Given the description of an element on the screen output the (x, y) to click on. 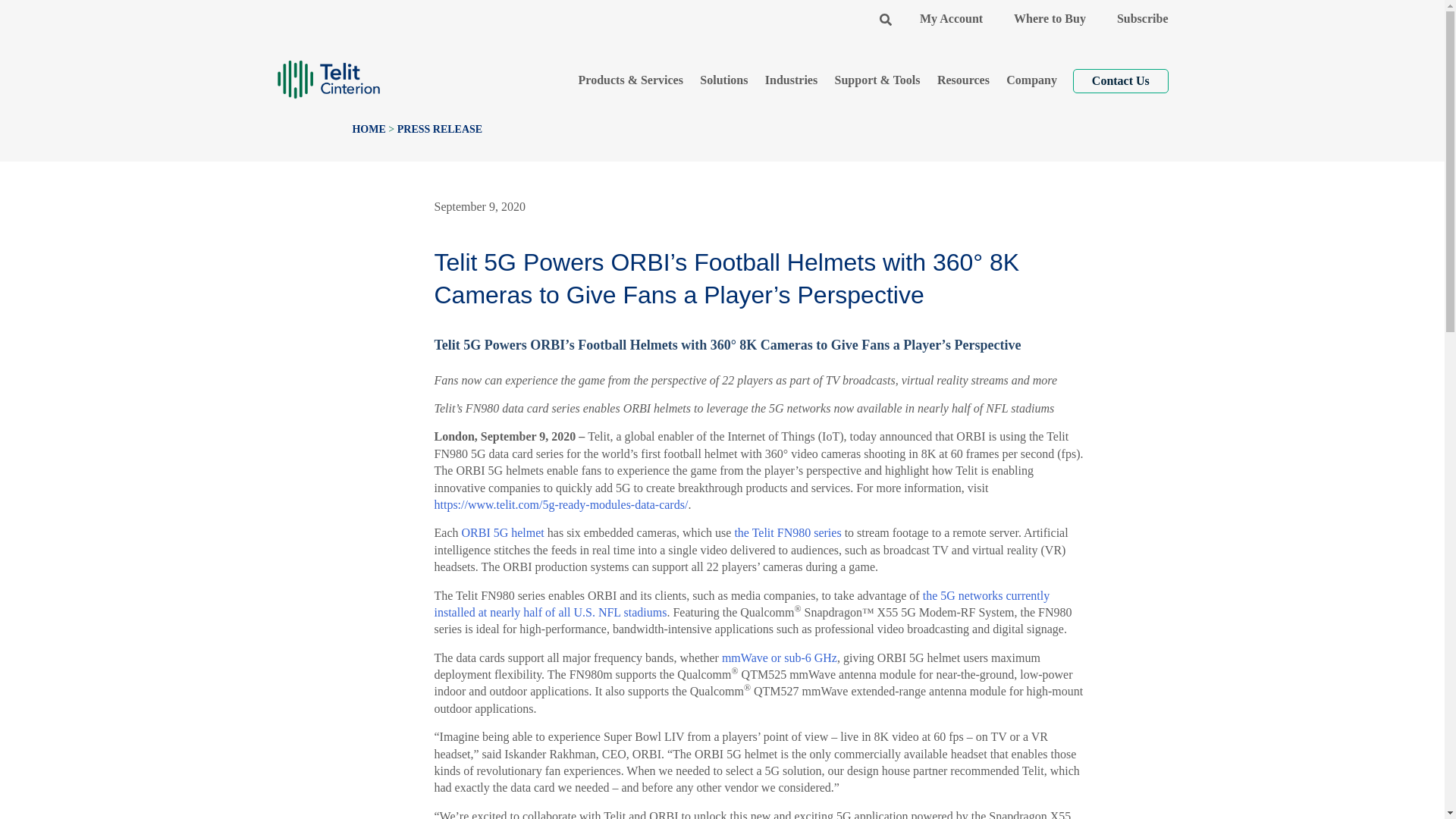
Solutions (724, 80)
My Account (951, 18)
Subscribe (1142, 18)
Telit Cinterion (328, 72)
Where to Buy (1049, 18)
